Given the description of an element on the screen output the (x, y) to click on. 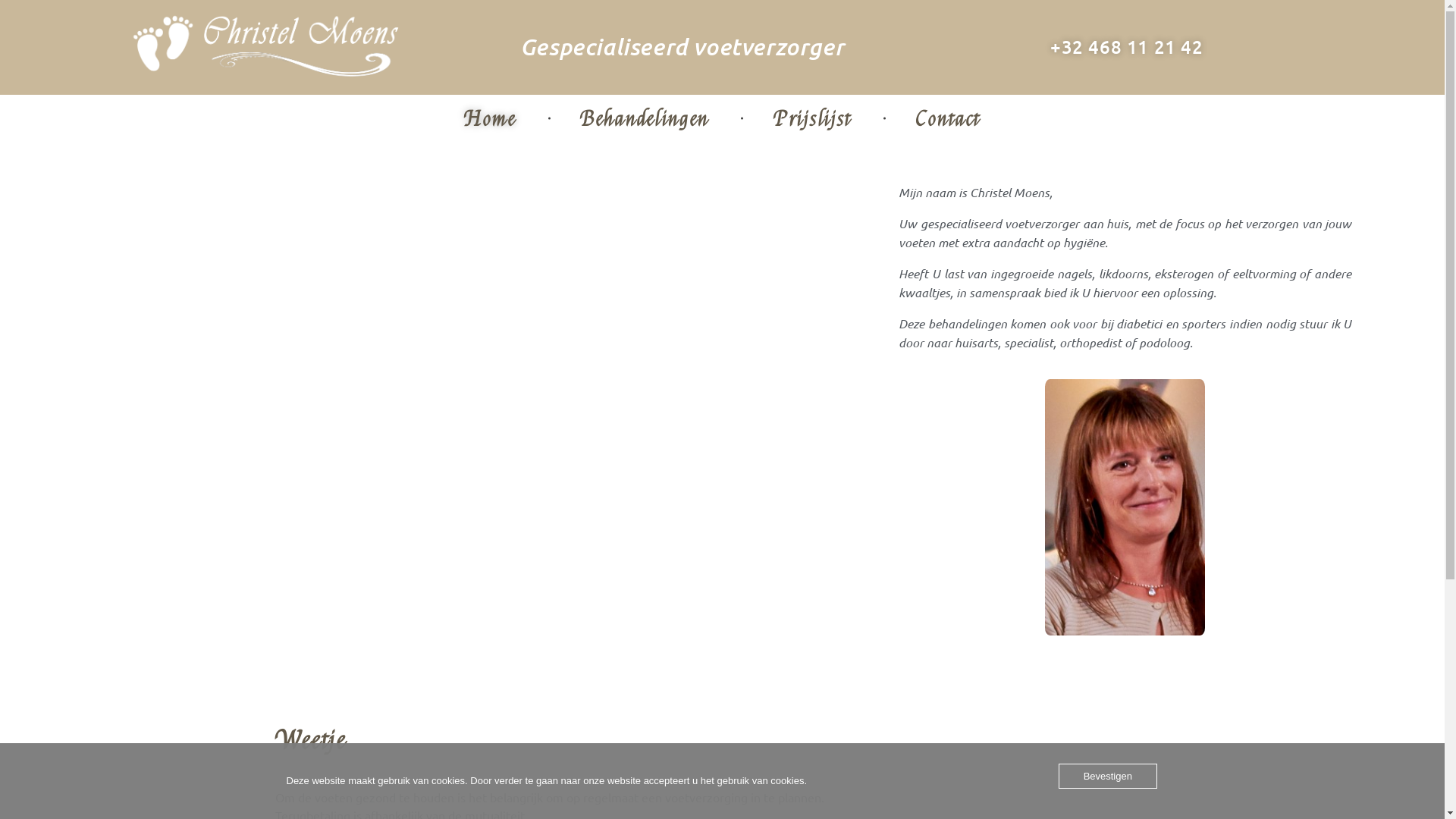
Home Element type: text (508, 119)
Christel Moens Element type: hover (260, 50)
Contact Element type: text (934, 119)
Prijslijst Element type: text (817, 119)
+32 468 11 21 42 Element type: text (1126, 46)
Behandelingen Element type: text (649, 119)
Christel Moens Element type: text (180, 101)
Bevestigen Element type: text (1107, 775)
